Given the description of an element on the screen output the (x, y) to click on. 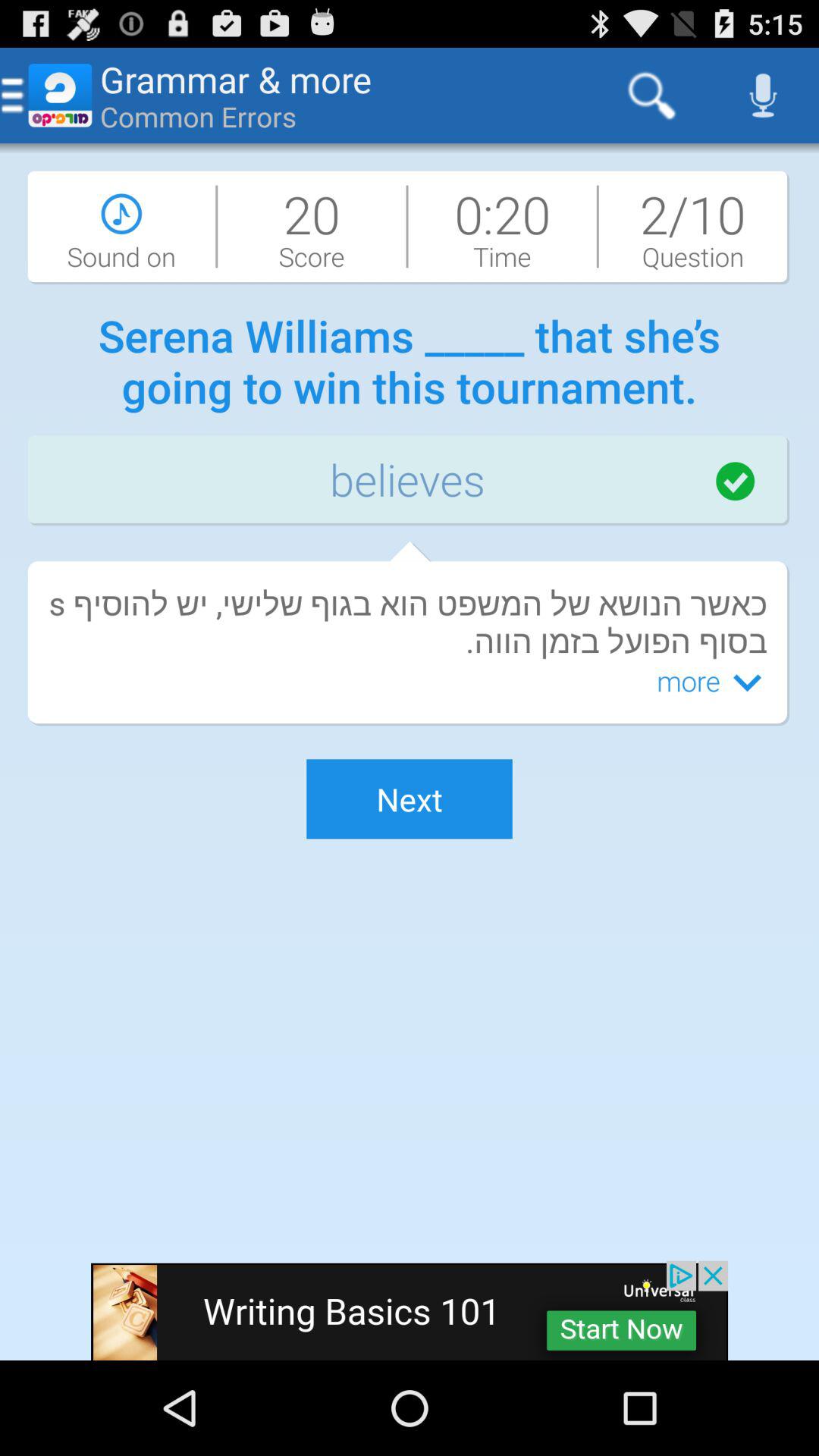
toggle writing basics (409, 1310)
